Given the description of an element on the screen output the (x, y) to click on. 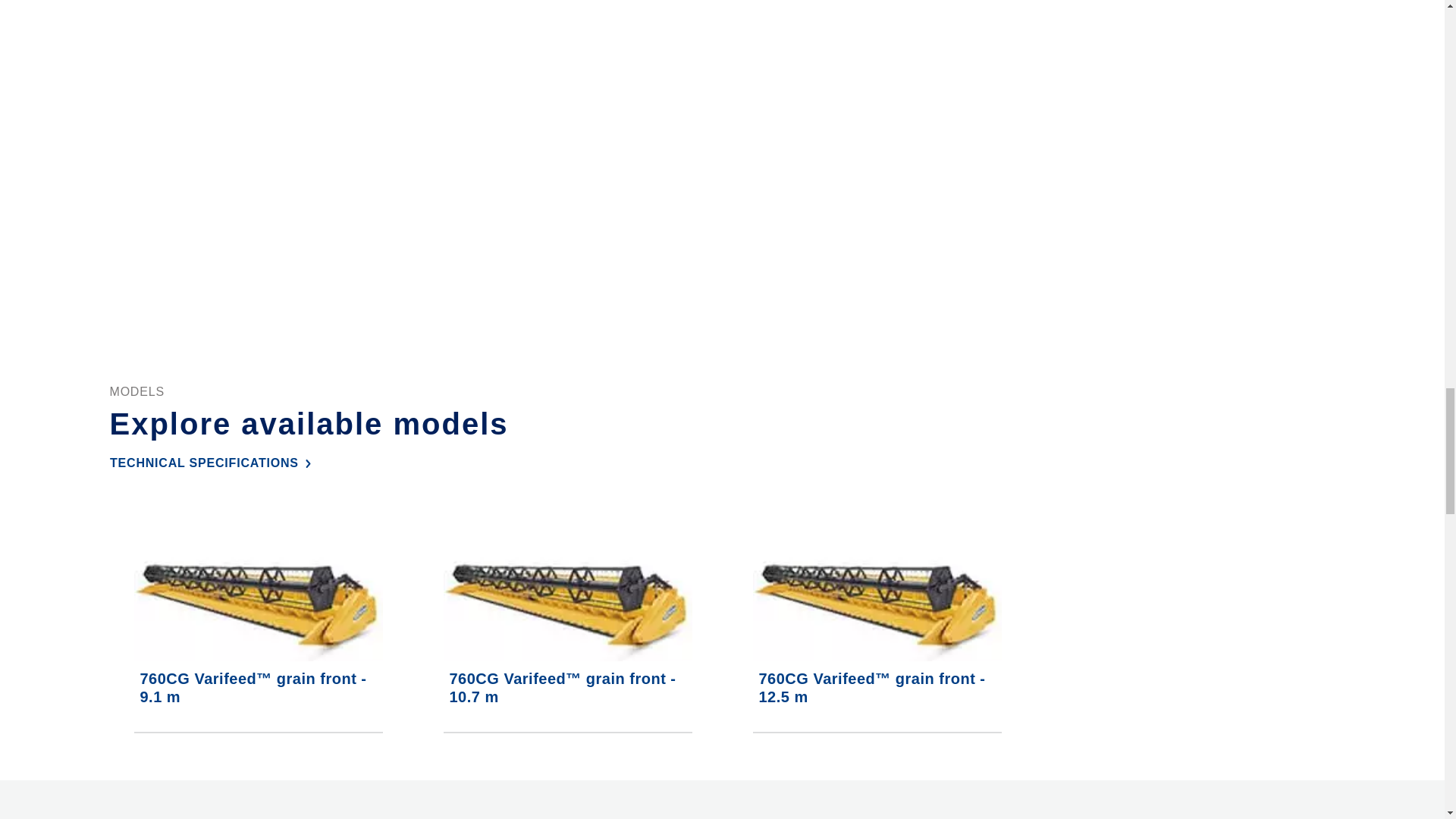
TECHNICAL SPECIFICATIONS (212, 463)
